Given the description of an element on the screen output the (x, y) to click on. 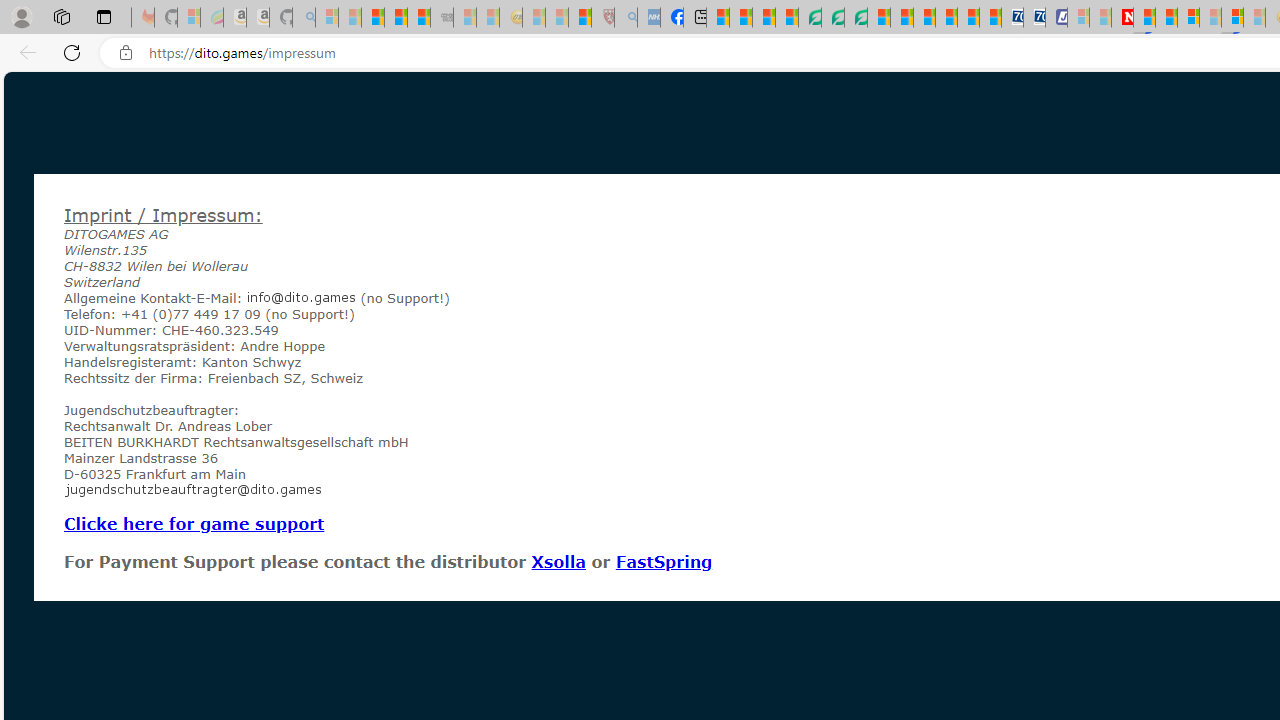
Local - MSN (580, 17)
Cheap Hotels - Save70.com (1034, 17)
Latest Politics News & Archive | Newsweek.com (1122, 17)
New Report Confirms 2023 Was Record Hot | Watch (419, 17)
LendingTree - Compare Lenders (809, 17)
World - MSN (763, 17)
Terms of Use Agreement (832, 17)
